Given the description of an element on the screen output the (x, y) to click on. 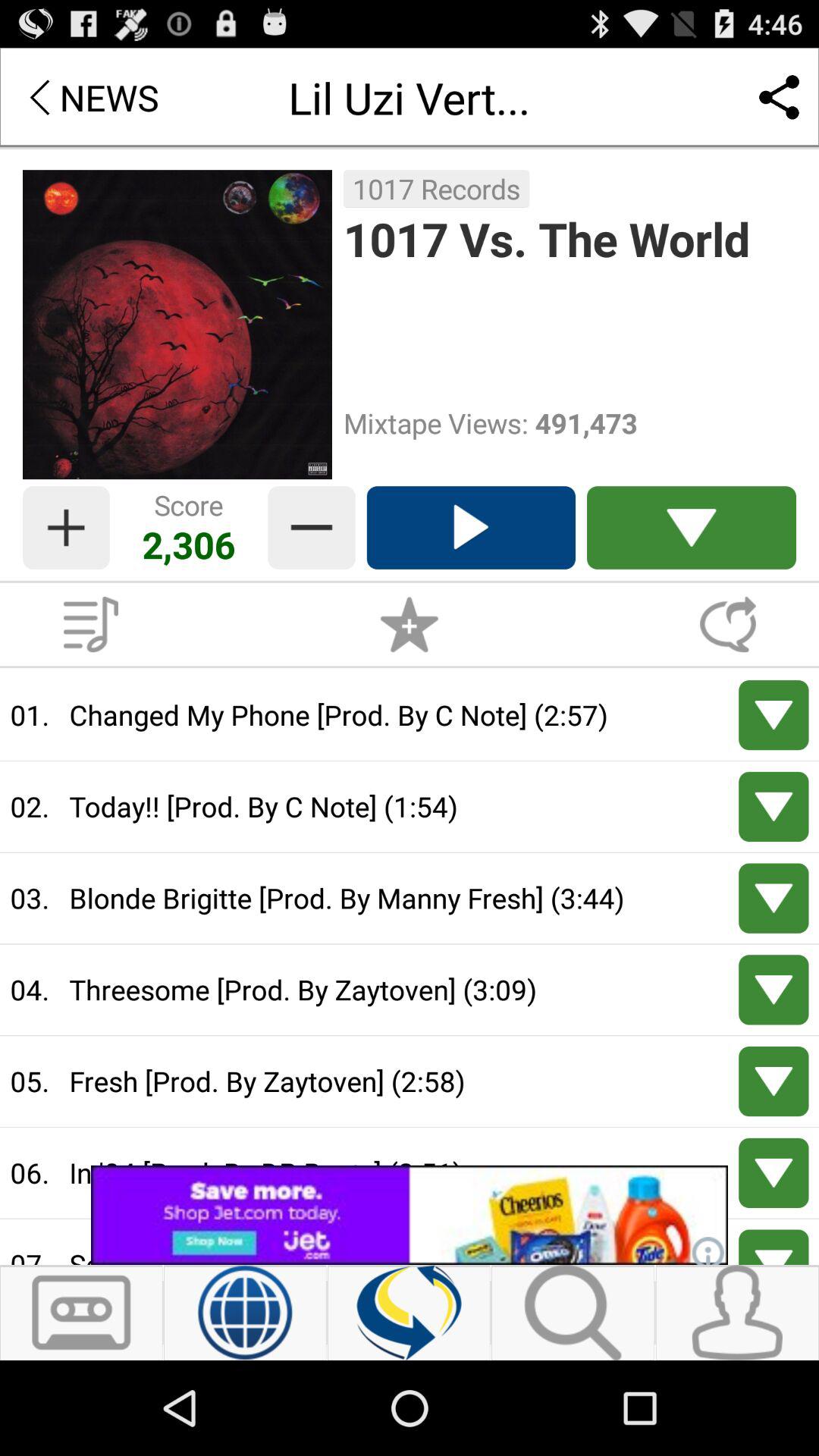
select score botton (65, 527)
